Given the description of an element on the screen output the (x, y) to click on. 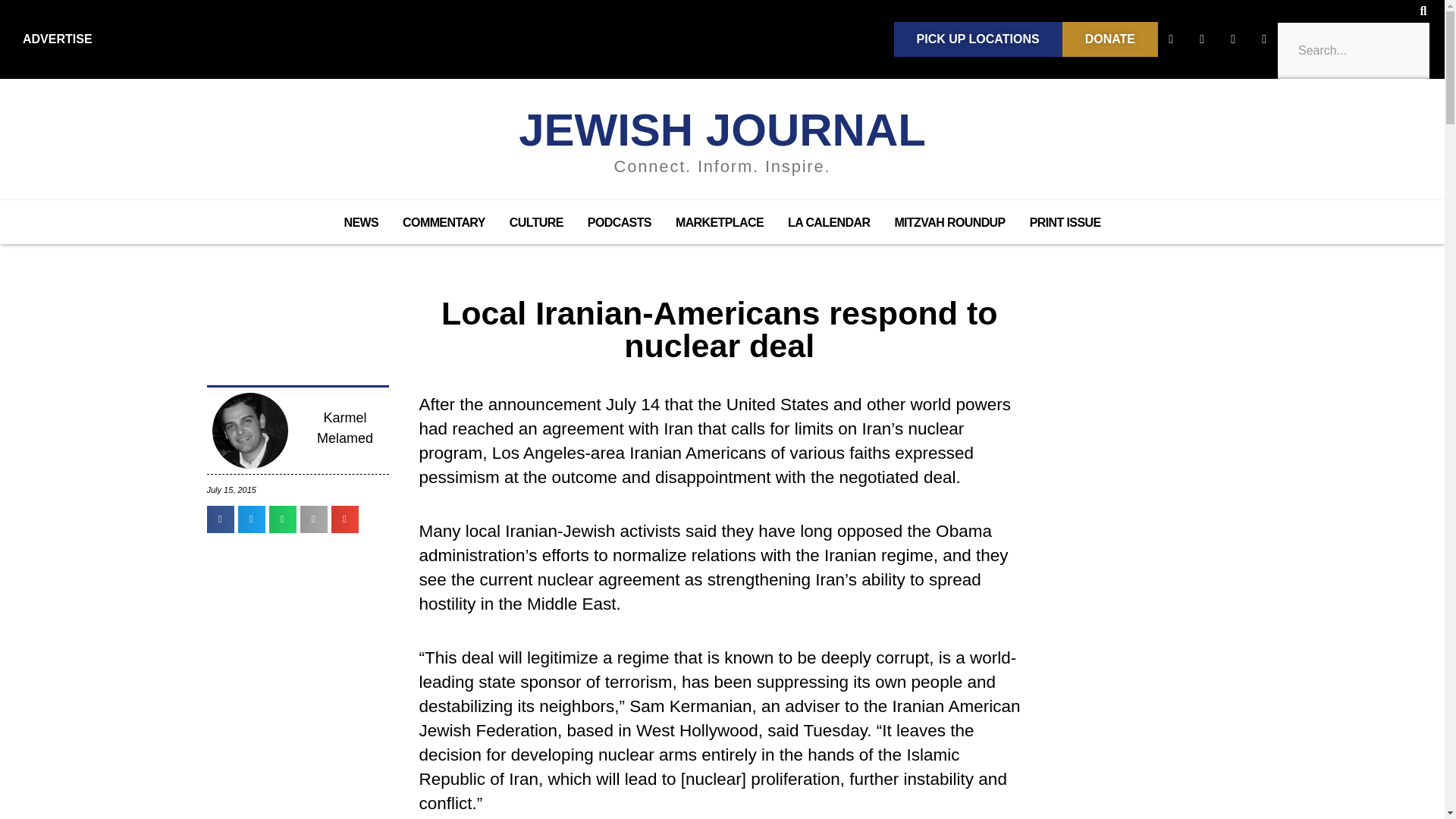
CULTURE (536, 222)
JEWISH JOURNAL (722, 129)
PICK UP LOCATIONS (977, 39)
LA CALENDAR (829, 222)
ADVERTISE (57, 39)
Search (1353, 50)
NEWS (361, 222)
PODCASTS (619, 222)
COMMENTARY (443, 222)
MARKETPLACE (719, 222)
